Given the description of an element on the screen output the (x, y) to click on. 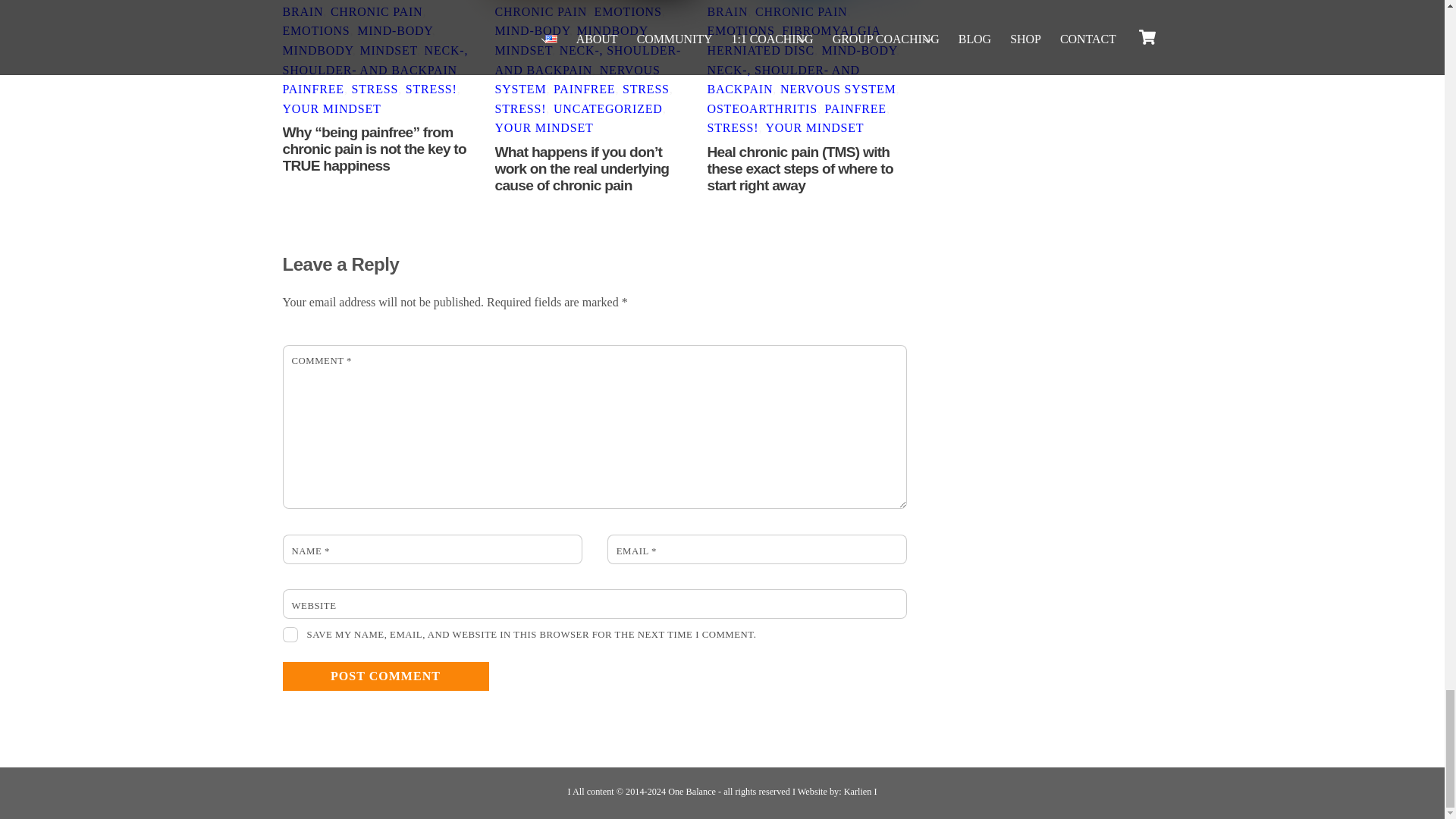
Post Comment (384, 676)
yes (289, 634)
BRAIN (302, 11)
